Given the description of an element on the screen output the (x, y) to click on. 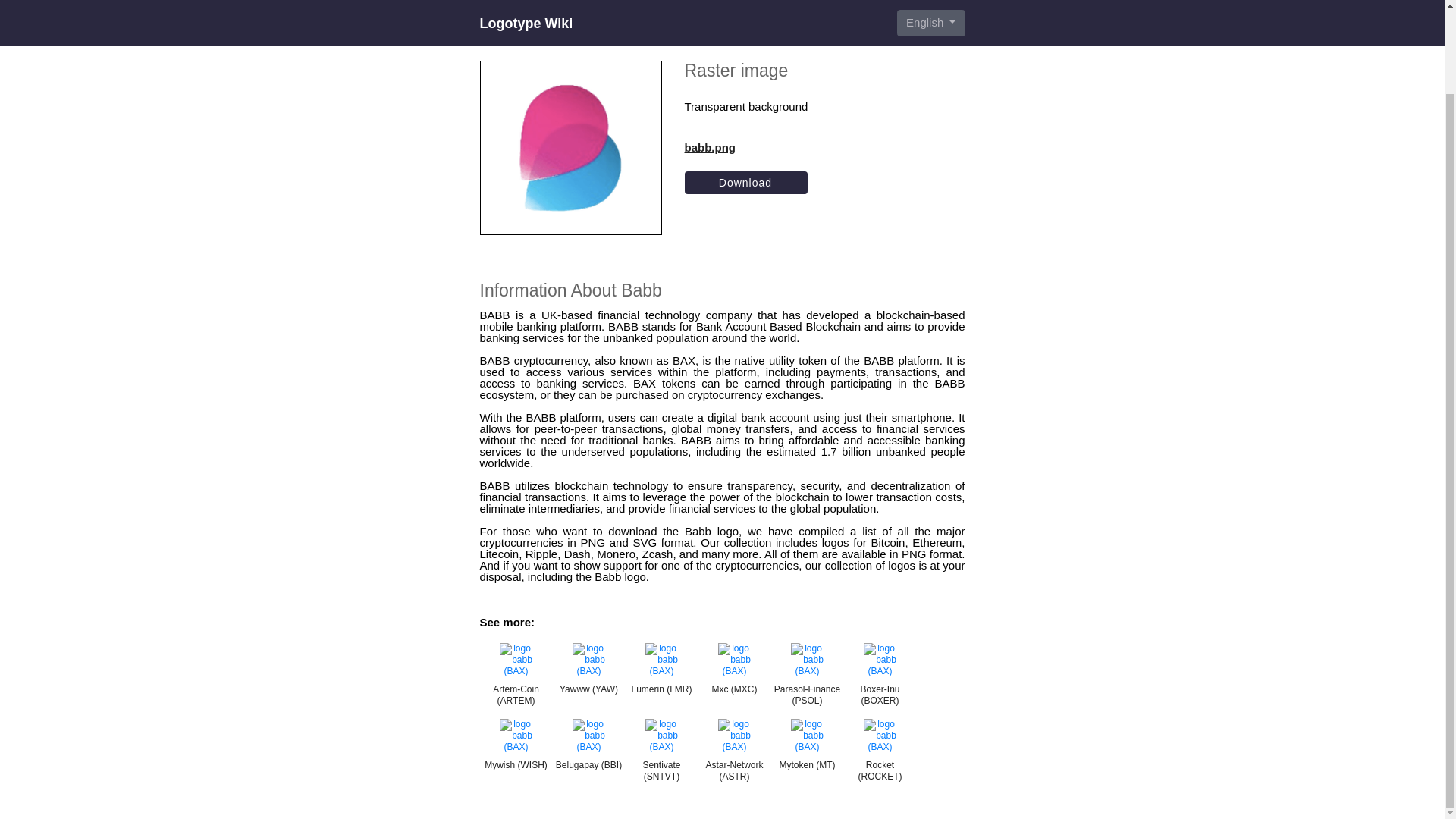
babb.png (746, 147)
Download (746, 182)
